Given the description of an element on the screen output the (x, y) to click on. 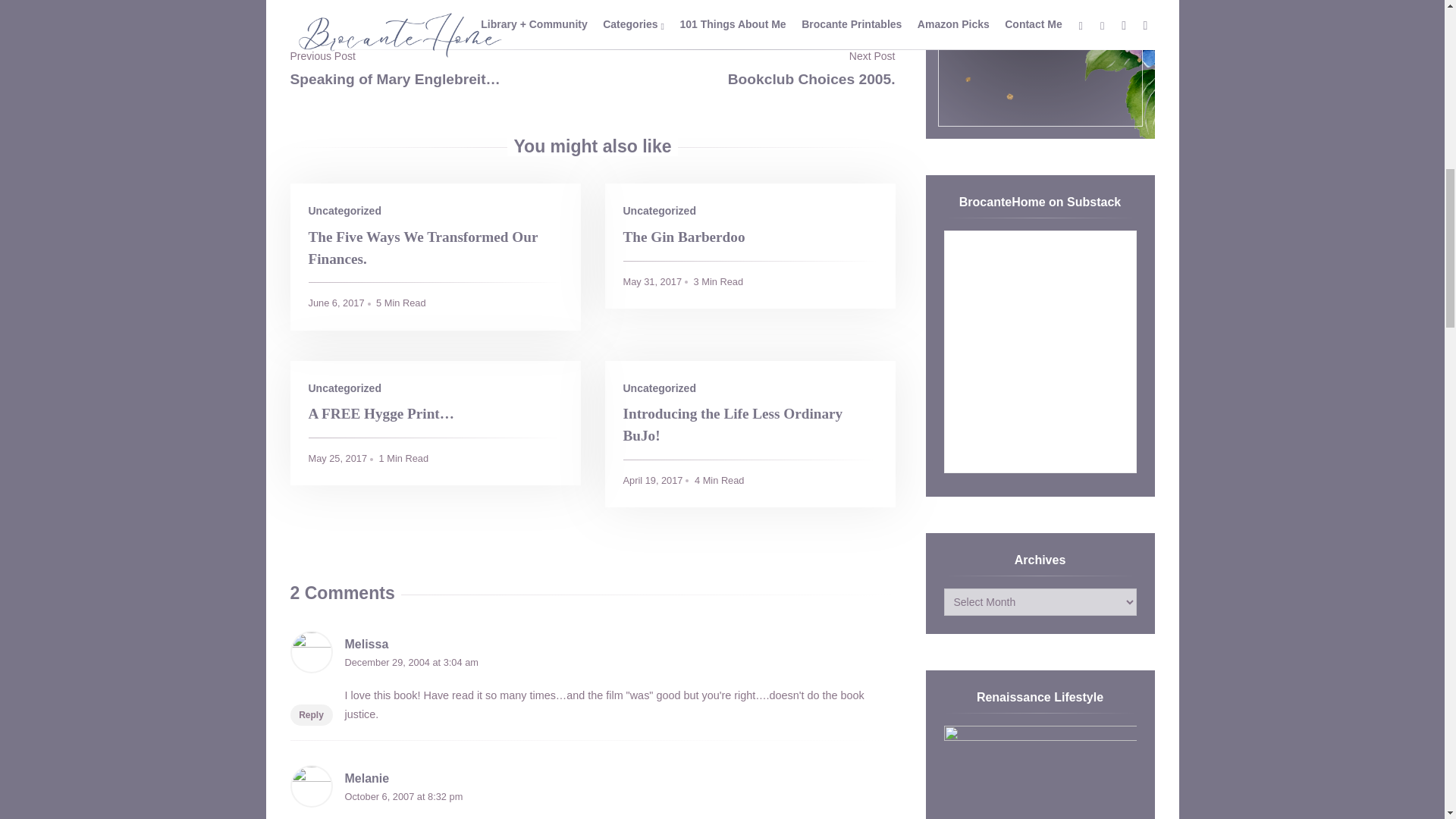
Tweet This! (501, 0)
Share on Facebook (537, 0)
Share on LinkedIn (574, 0)
Pin this! (610, 0)
